Given the description of an element on the screen output the (x, y) to click on. 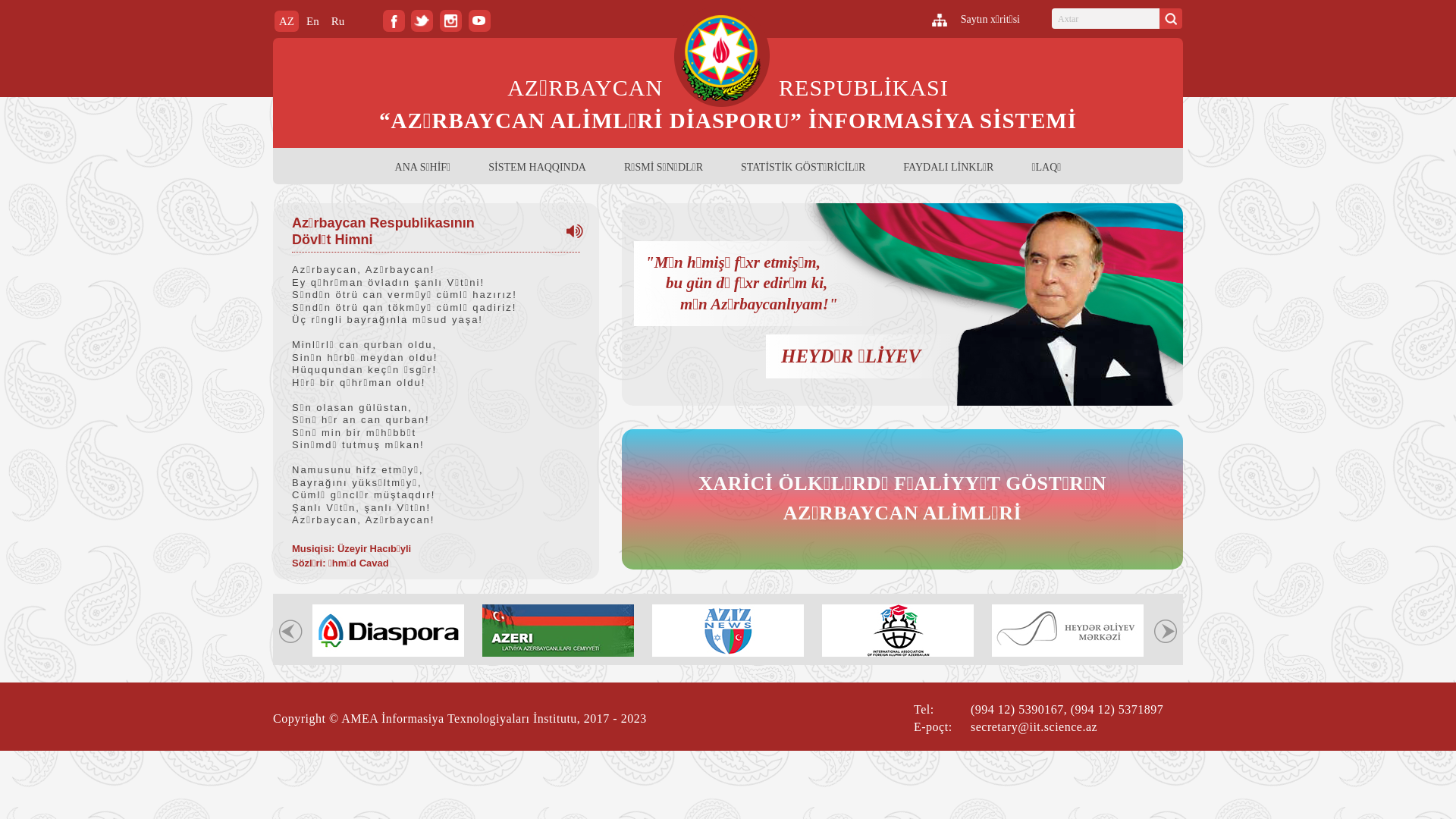
AZ Element type: text (286, 20)
En Element type: text (312, 20)
Ru Element type: text (337, 20)
